Given the description of an element on the screen output the (x, y) to click on. 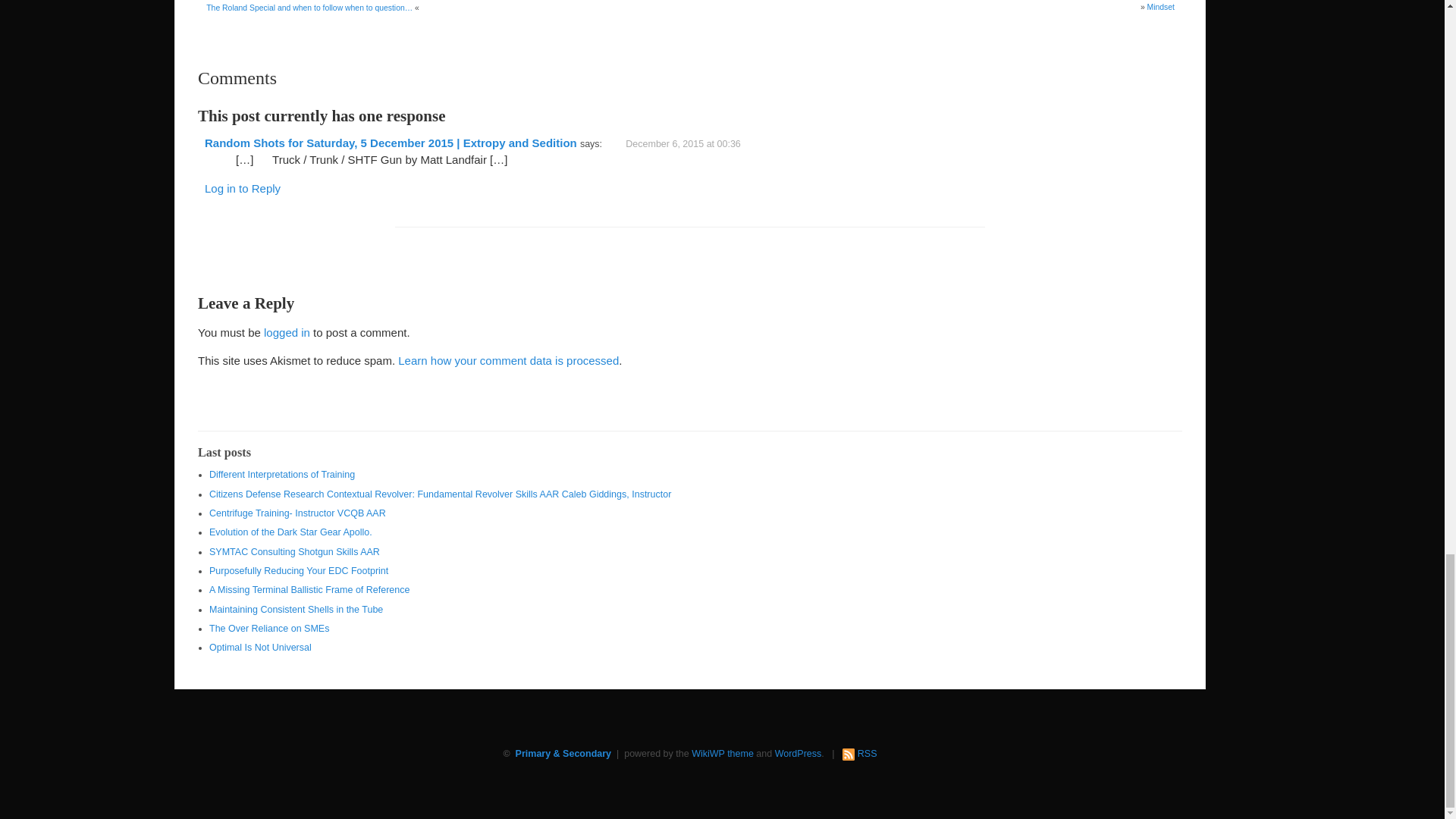
December 6, 2015 at 00:36 (695, 142)
Different Interpretations of Training (282, 474)
Learn how your comment data is processed (507, 359)
Mindset (1160, 7)
Wikipedia look-a-like theme for WordPress (722, 753)
Maintaining Consistent Shells in the Tube (295, 609)
Log in to Reply (243, 187)
Optimal Is Not Universal (260, 647)
Centrifuge Training- Instructor VCQB AAR (297, 512)
A Missing Terminal Ballistic Frame of Reference (309, 589)
RSS Feed (867, 753)
Evolution of the Dark Star Gear Apollo.  (291, 532)
logged in (286, 332)
The Over Reliance on SMEs (269, 628)
